Given the description of an element on the screen output the (x, y) to click on. 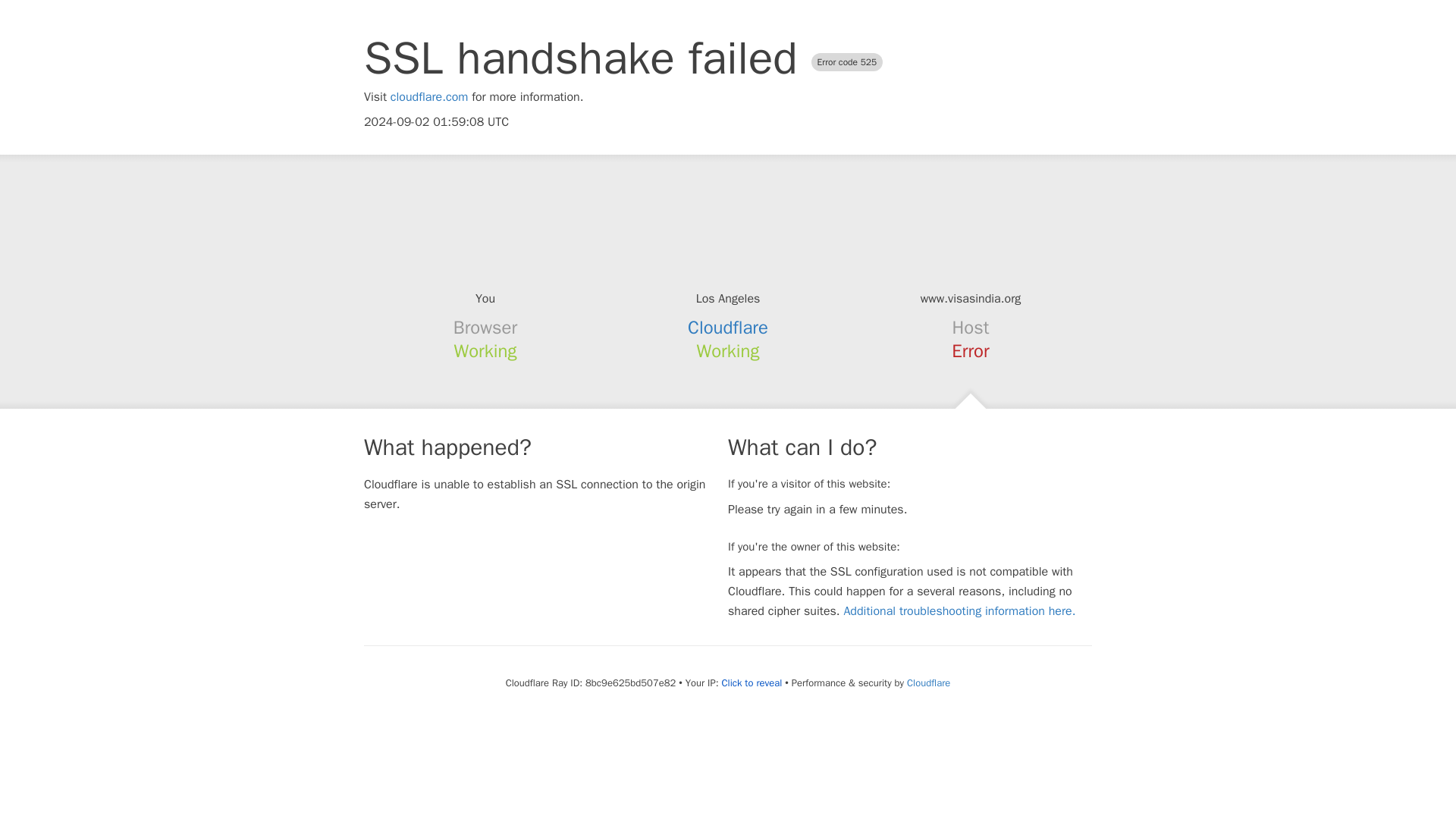
Cloudflare (727, 327)
cloudflare.com (429, 96)
Cloudflare (928, 682)
Click to reveal (750, 683)
Additional troubleshooting information here. (959, 611)
